Given the description of an element on the screen output the (x, y) to click on. 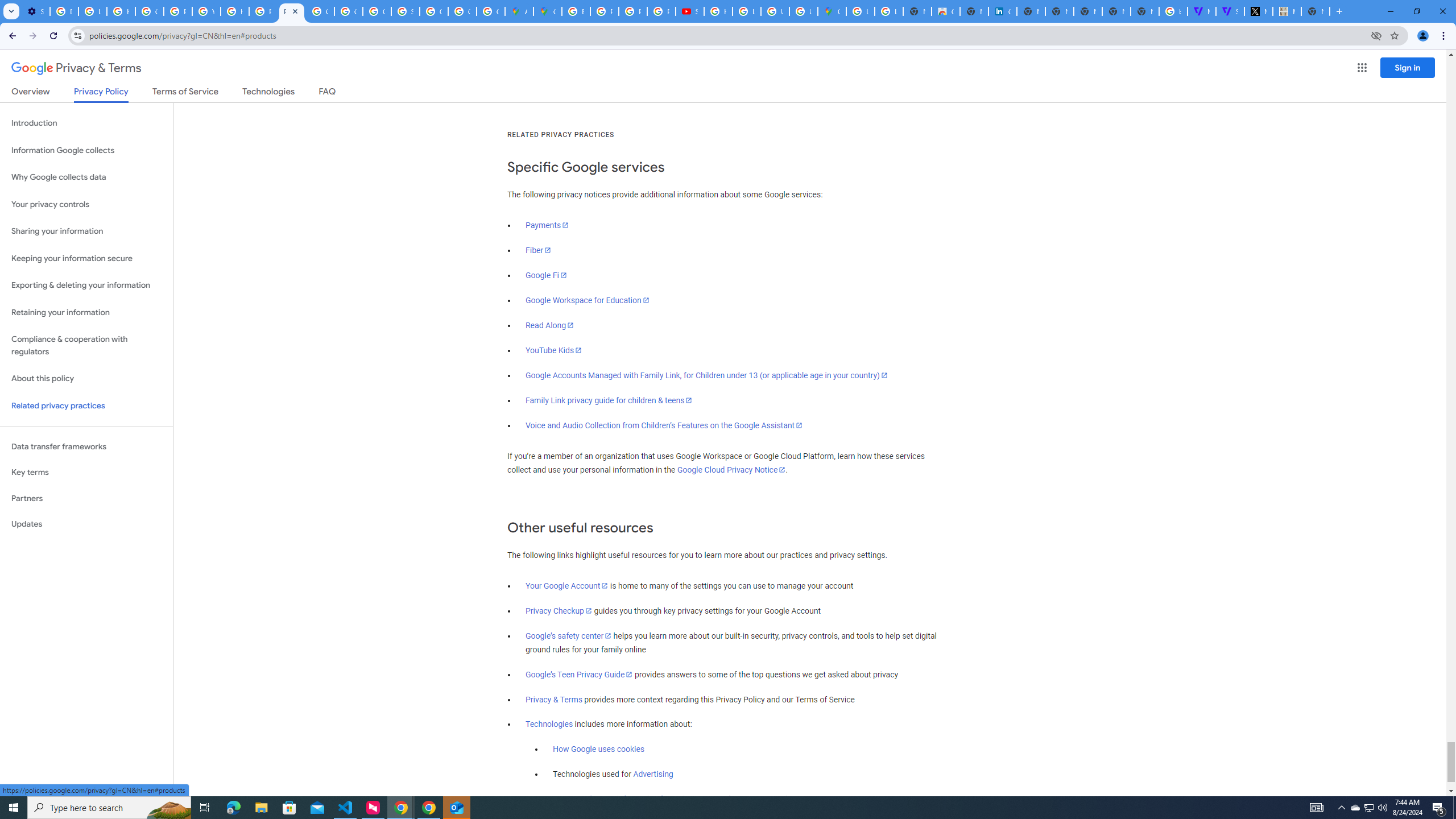
YouTube Kids (553, 350)
New Tab (1315, 11)
Miley Cyrus (@MileyCyrus) / X (1258, 11)
Family Link privacy guide for children & teens (609, 400)
Chrome Web Store (945, 11)
YouTube (206, 11)
